Given the description of an element on the screen output the (x, y) to click on. 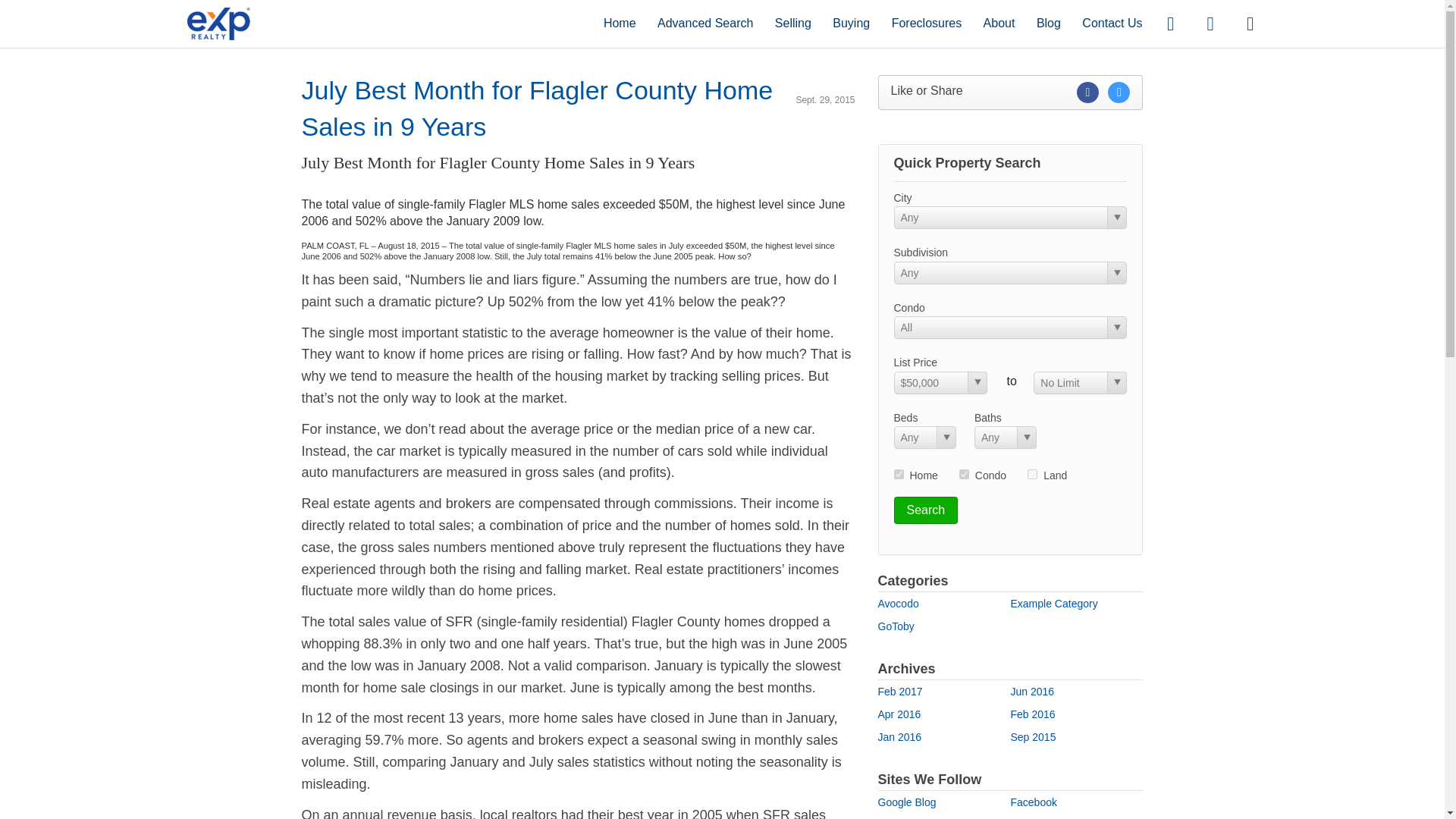
Buying (850, 22)
Like or Share (1009, 92)
Sep 2015 (1032, 736)
Advanced Search (705, 22)
Avocodo (897, 603)
Search (925, 510)
res (897, 474)
lnd (1031, 474)
con (964, 474)
July Best Month for Flagler County Home Sales in 9 Years (537, 108)
About (999, 22)
Feb 2017 (900, 691)
Home (620, 22)
Google Blog (906, 802)
Foreclosures (925, 22)
